Given the description of an element on the screen output the (x, y) to click on. 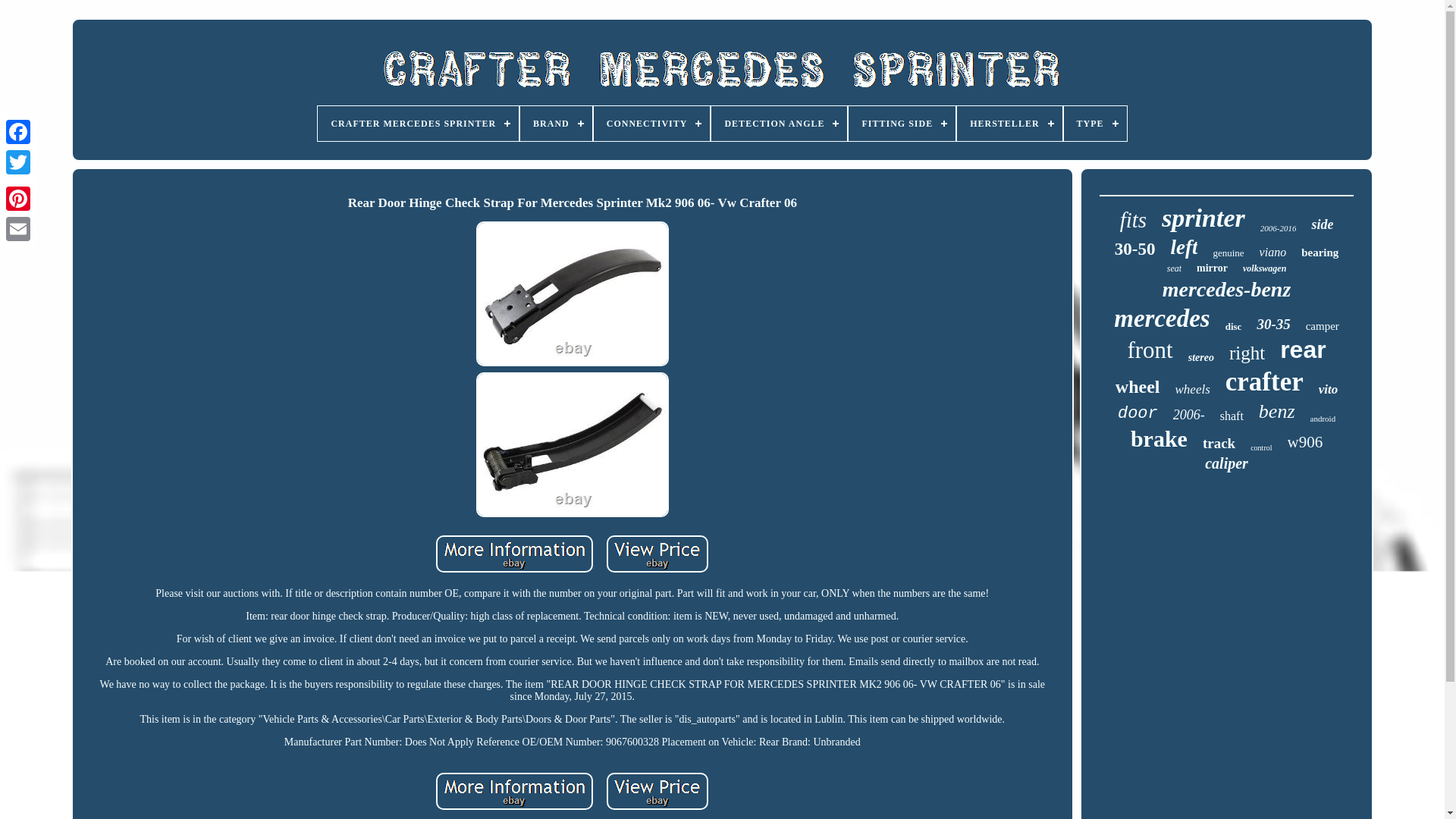
CONNECTIVITY (652, 123)
DETECTION ANGLE (779, 123)
CRAFTER MERCEDES SPRINTER (417, 123)
BRAND (555, 123)
